Given the description of an element on the screen output the (x, y) to click on. 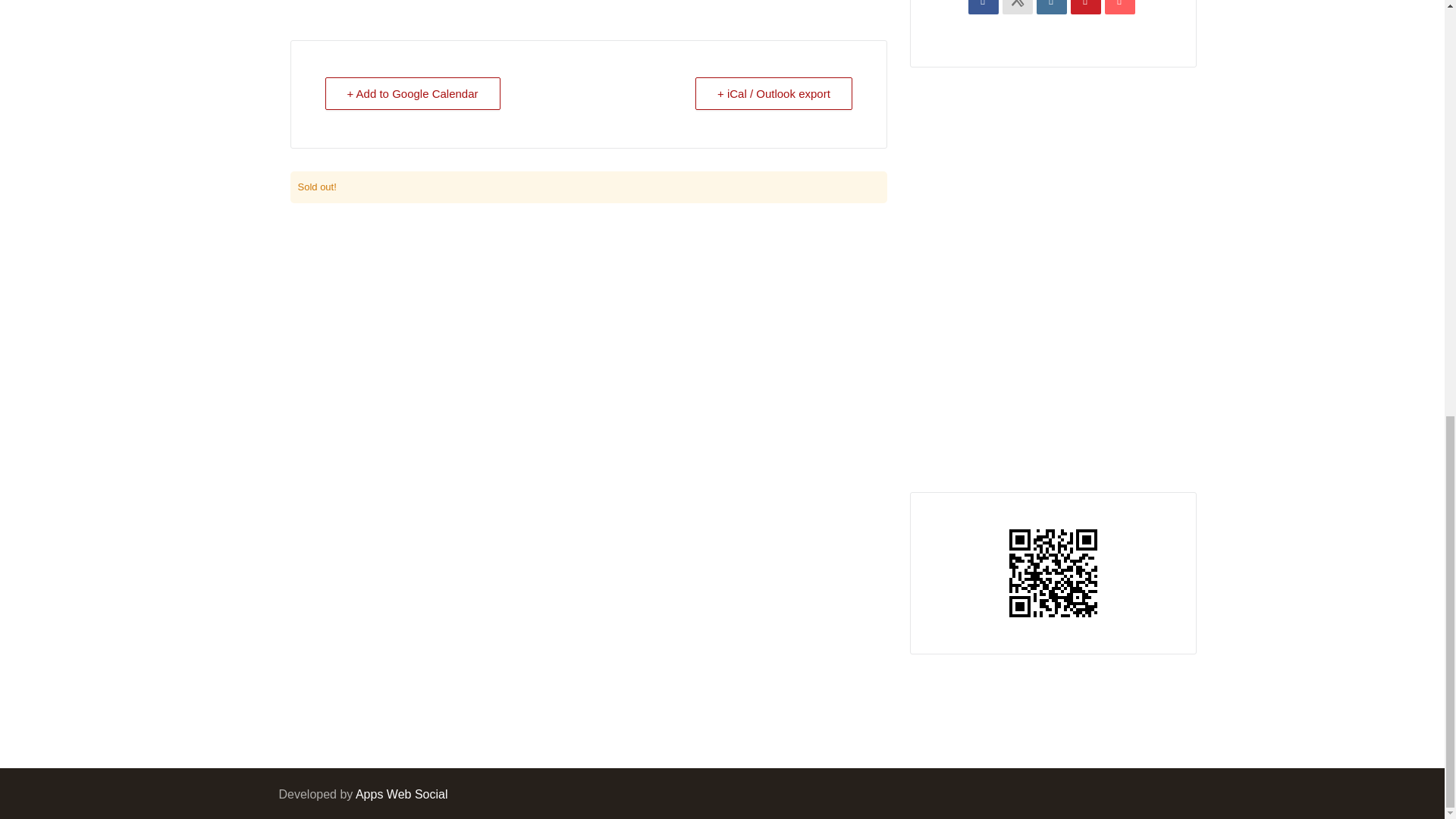
Share on Facebook (983, 7)
Email (1120, 7)
Linkedin (1051, 7)
Share on Pinterest (1085, 7)
X Social Network (1017, 7)
